Given the description of an element on the screen output the (x, y) to click on. 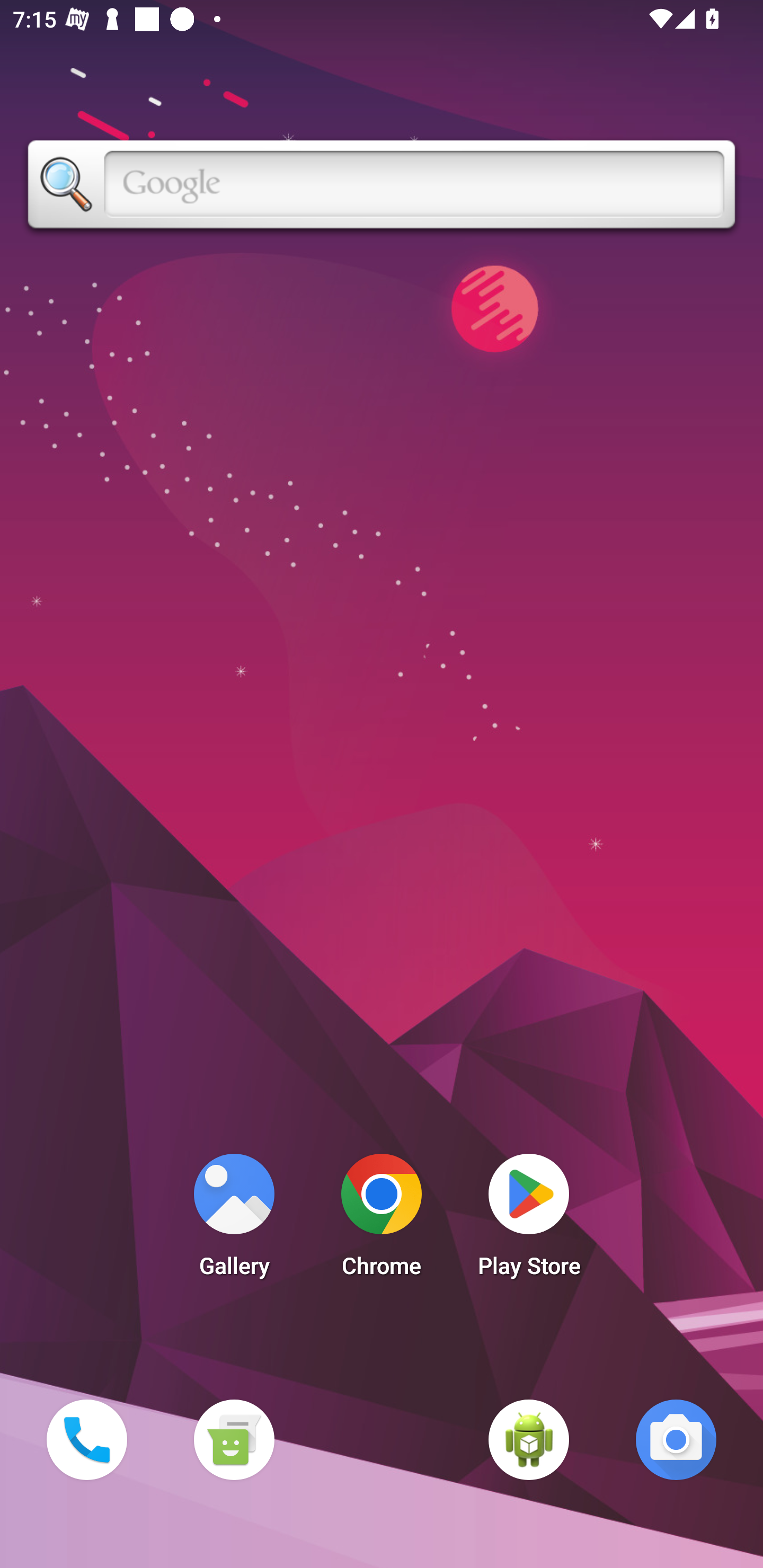
Gallery (233, 1220)
Chrome (381, 1220)
Play Store (528, 1220)
Phone (86, 1439)
Messaging (233, 1439)
WebView Browser Tester (528, 1439)
Camera (676, 1439)
